Given the description of an element on the screen output the (x, y) to click on. 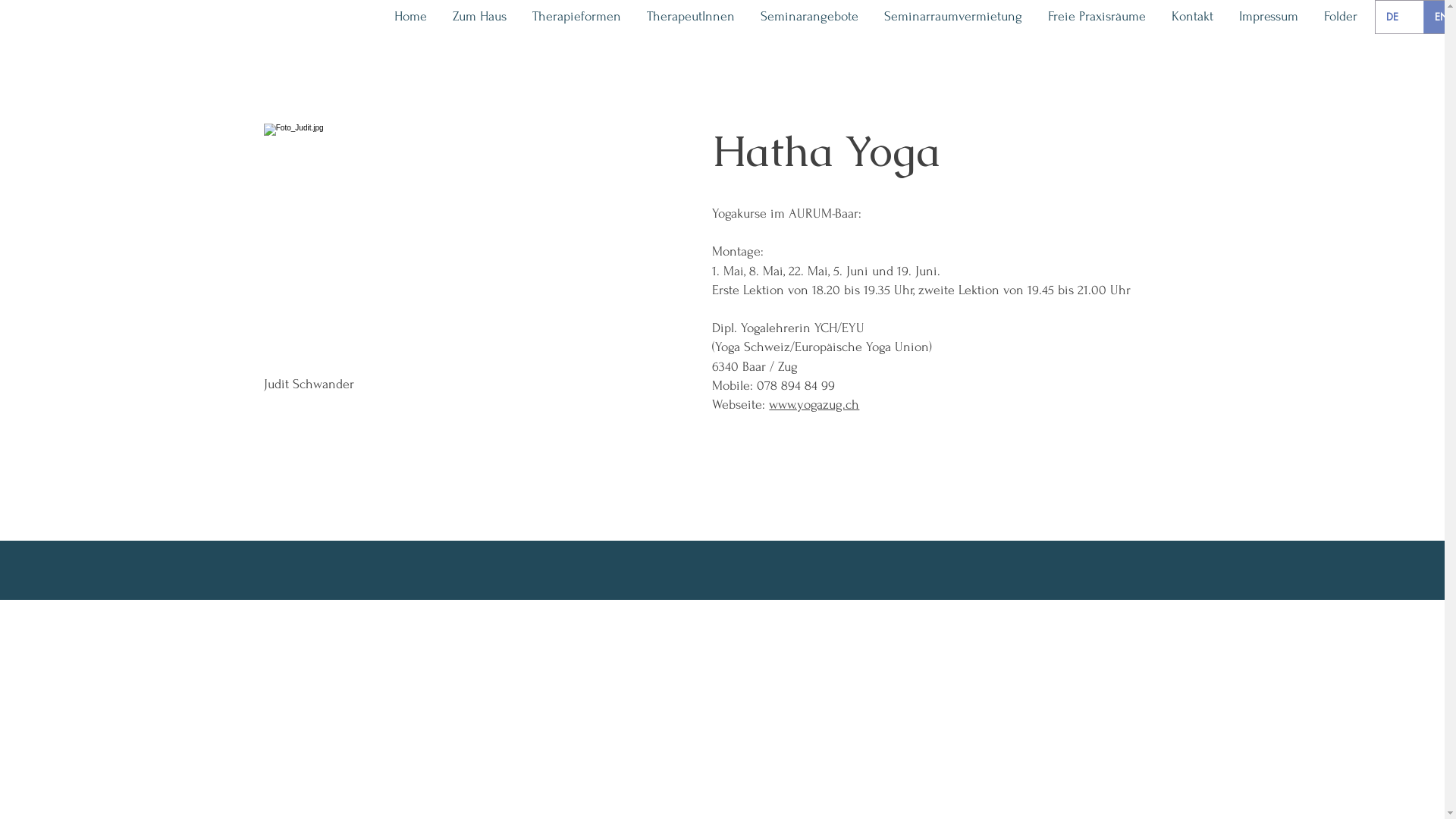
Impressum Element type: text (1268, 16)
Home Element type: text (410, 16)
Zum Haus Element type: text (479, 16)
Seminarraumvermietung Element type: text (953, 16)
Seminarangebote Element type: text (809, 16)
Therapieformen Element type: text (576, 16)
www.yogazug.ch Element type: text (813, 404)
TherapeutInnen Element type: text (690, 16)
Kontakt Element type: text (1192, 16)
